Given the description of an element on the screen output the (x, y) to click on. 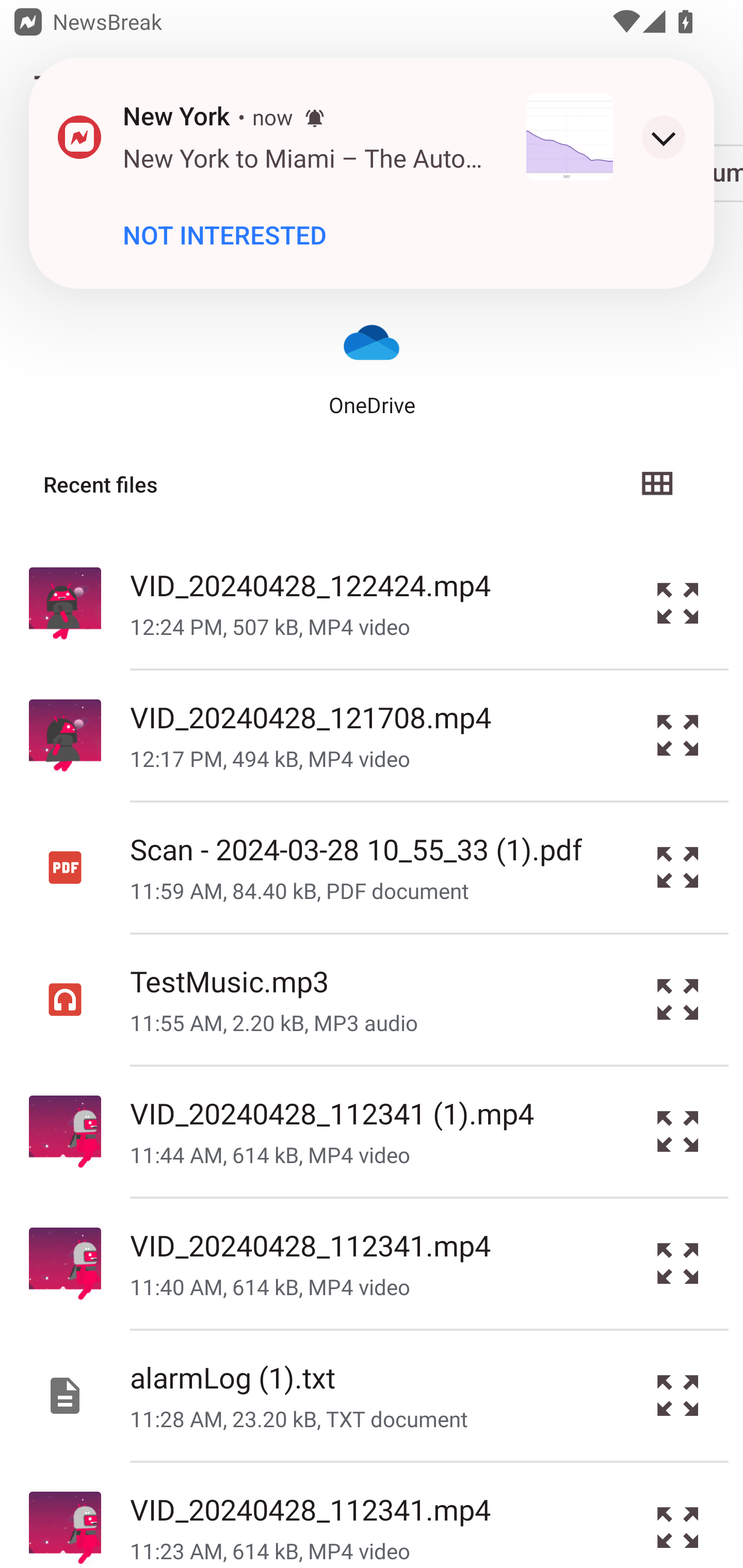
OneDrive (371, 365)
Grid view (655, 484)
Preview the file VID_20240428_122424.mp4 (677, 602)
Preview the file VID_20240428_121708.mp4 (677, 736)
Preview the file TestMusic.mp3 (677, 999)
Preview the file VID_20240428_112341 (1).mp4 (677, 1131)
Preview the file VID_20240428_112341.mp4 (677, 1262)
Preview the file alarmLog (1).txt (677, 1396)
Preview the file VID_20240428_112341.mp4 (677, 1515)
